Given the description of an element on the screen output the (x, y) to click on. 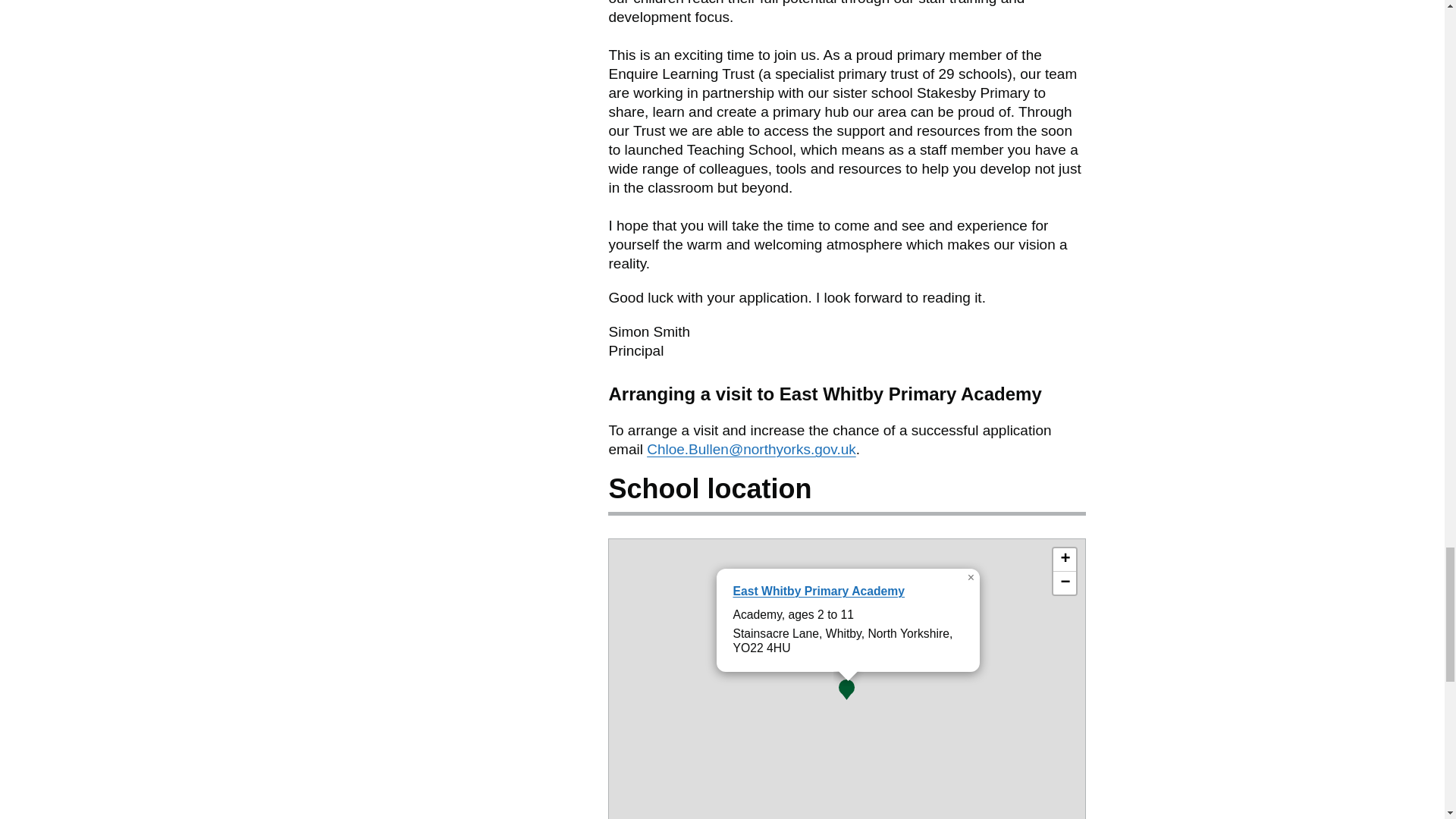
East Whitby Primary Academy (818, 590)
Zoom in (1063, 559)
Zoom out (1063, 582)
